Given the description of an element on the screen output the (x, y) to click on. 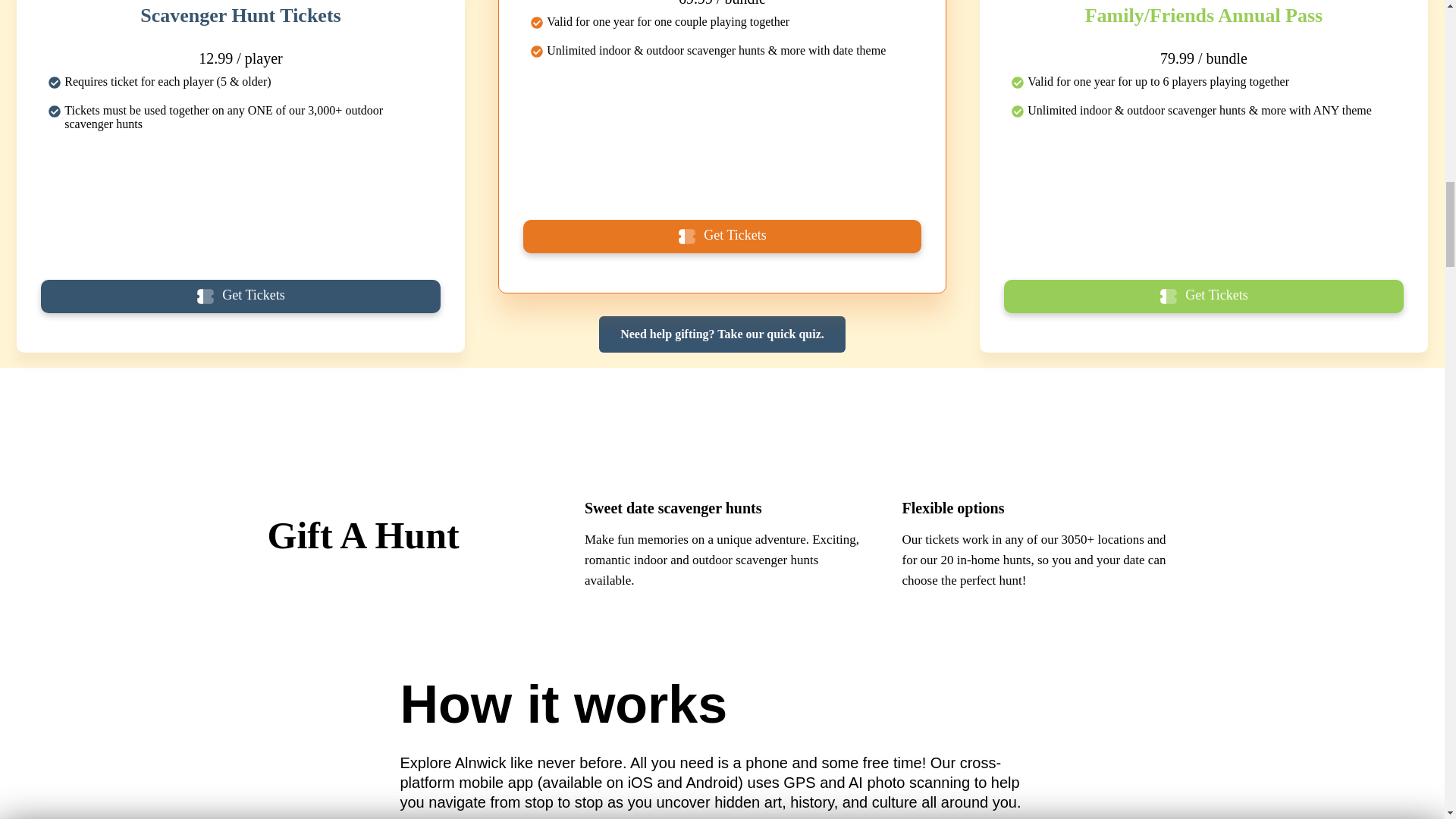
Need help gifting? Take our quick quiz. (721, 334)
